Given the description of an element on the screen output the (x, y) to click on. 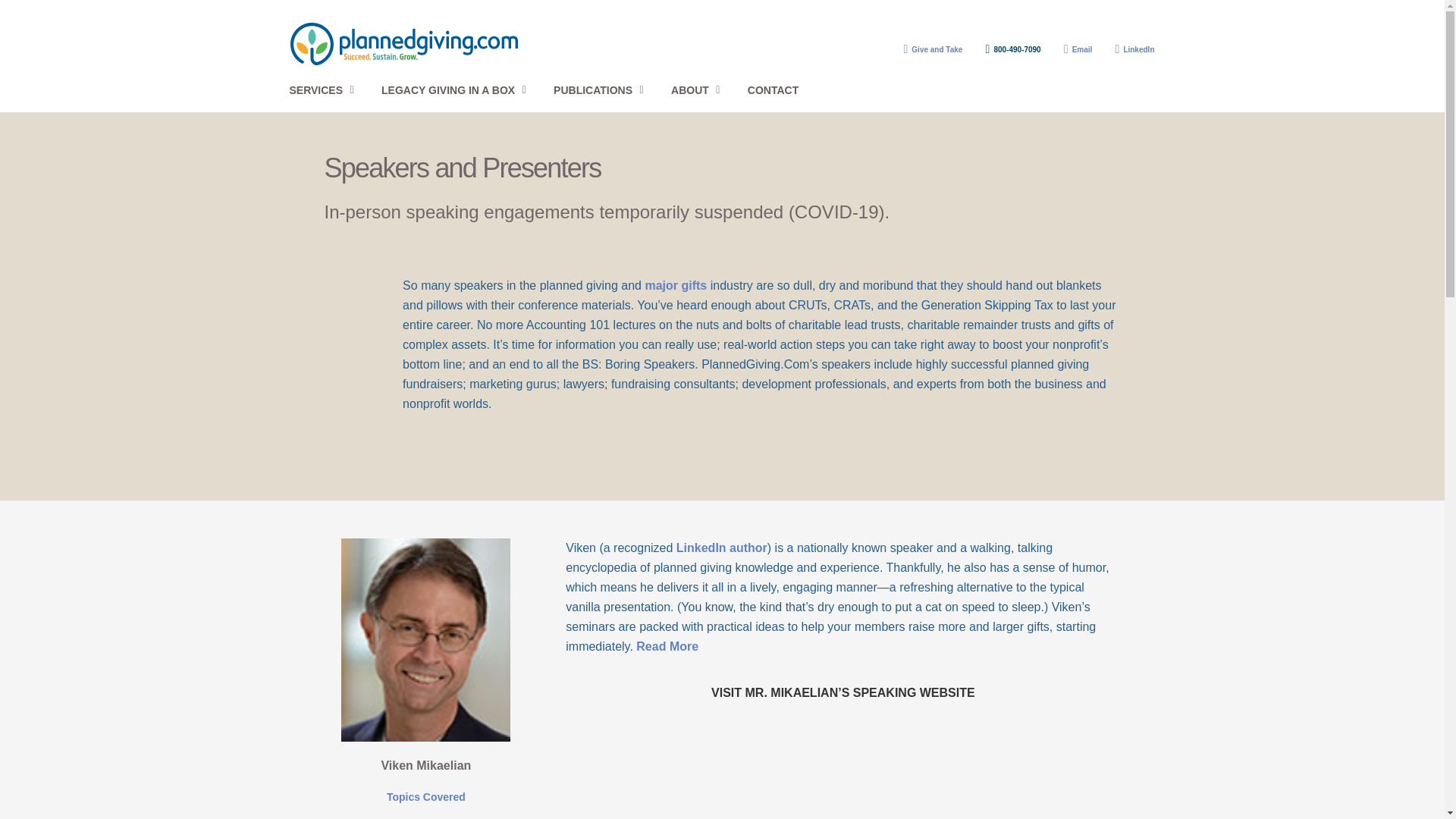
Email (1072, 49)
LinkedIn (1128, 49)
CONTACT (772, 90)
Give and Take (927, 49)
